Given the description of an element on the screen output the (x, y) to click on. 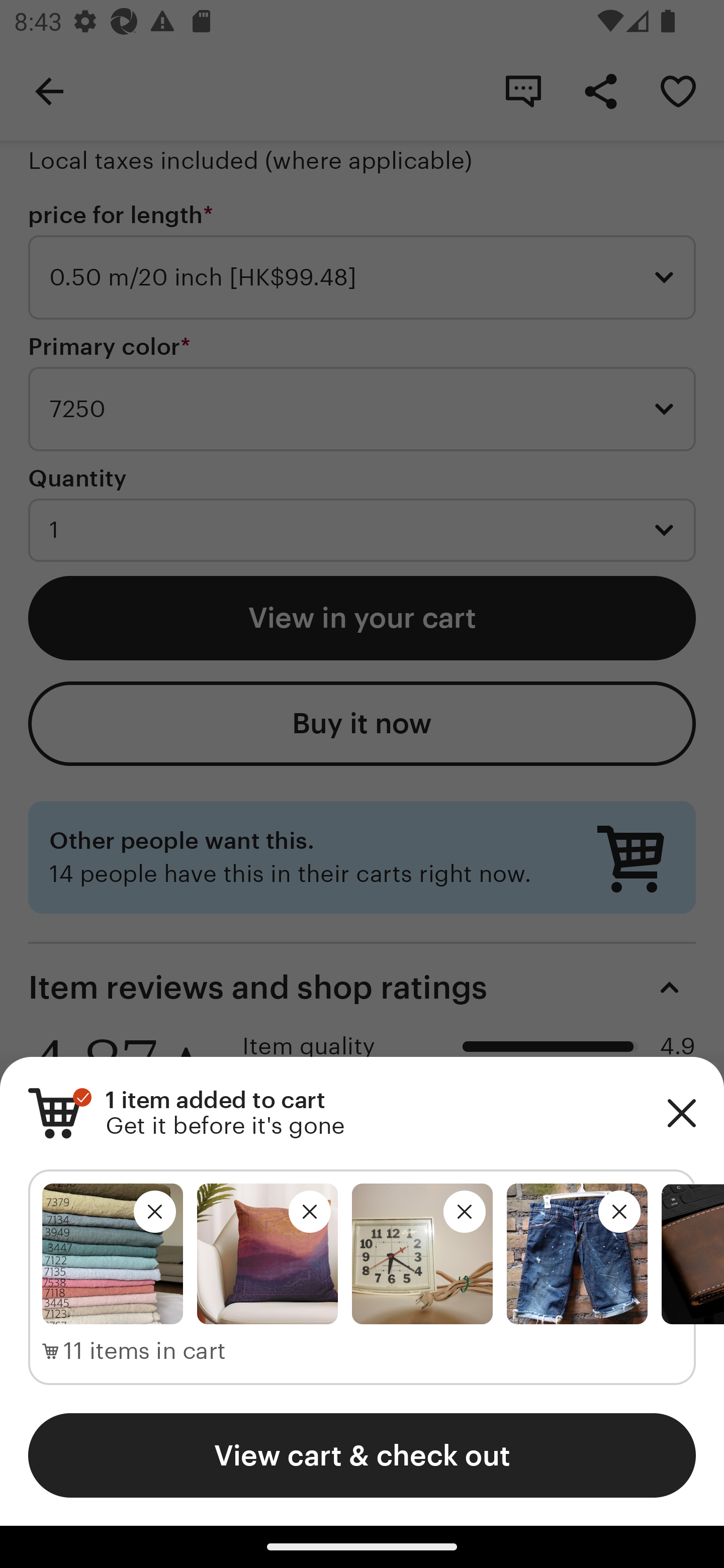
11 items in cart (133, 1351)
View cart & check out (361, 1454)
